Given the description of an element on the screen output the (x, y) to click on. 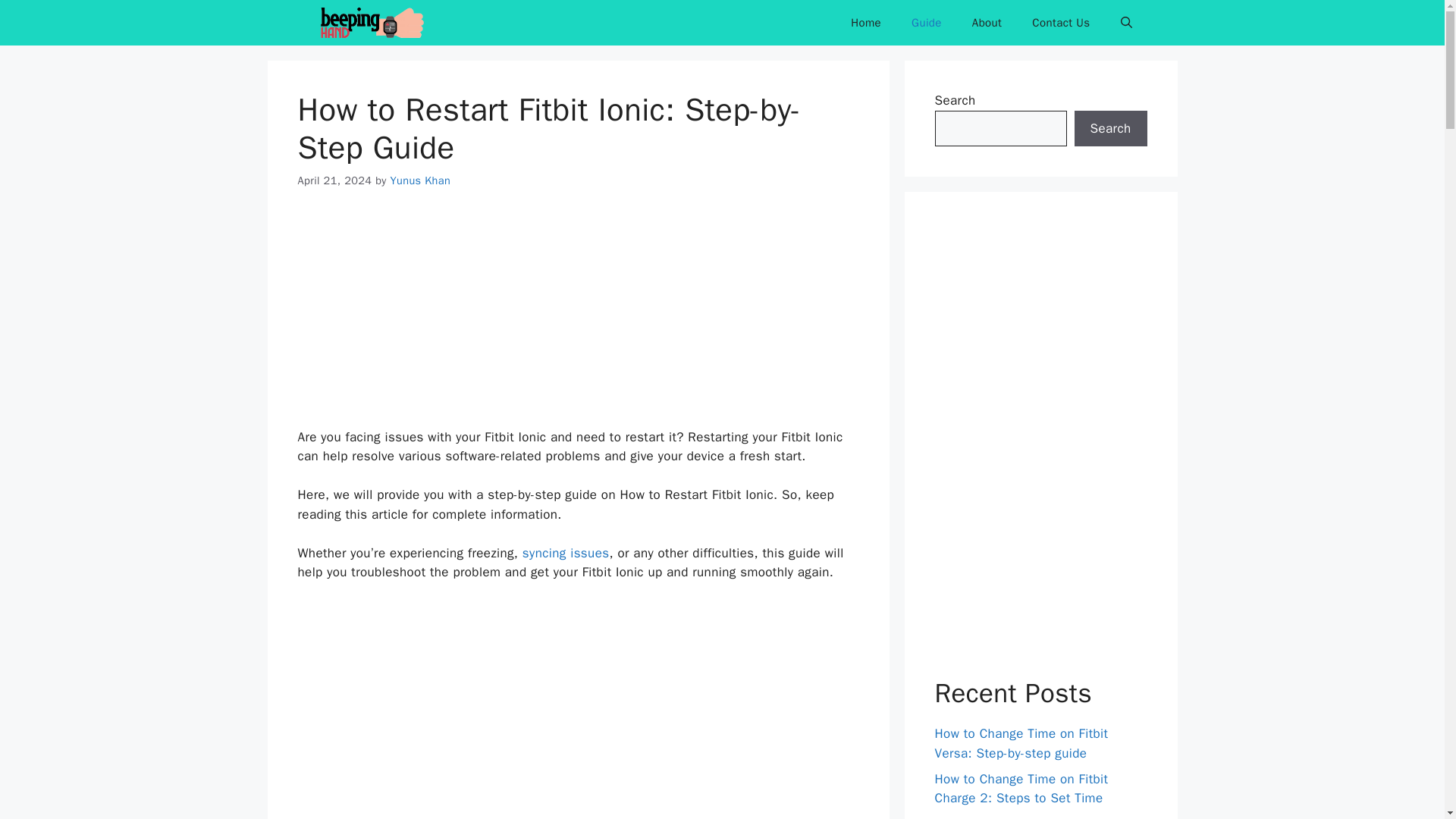
Advertisement (578, 710)
Yunus Khan (420, 180)
Home (865, 22)
Contact Us (1060, 22)
View all posts by Yunus Khan (420, 180)
How to Change Time on Fitbit Charge 2: Steps to Set Time (1021, 787)
Guide (926, 22)
Advertisement (578, 321)
Search (1110, 128)
How to Reset Fitbit Charge 3: Step-by-Step Process (1039, 817)
